Given the description of an element on the screen output the (x, y) to click on. 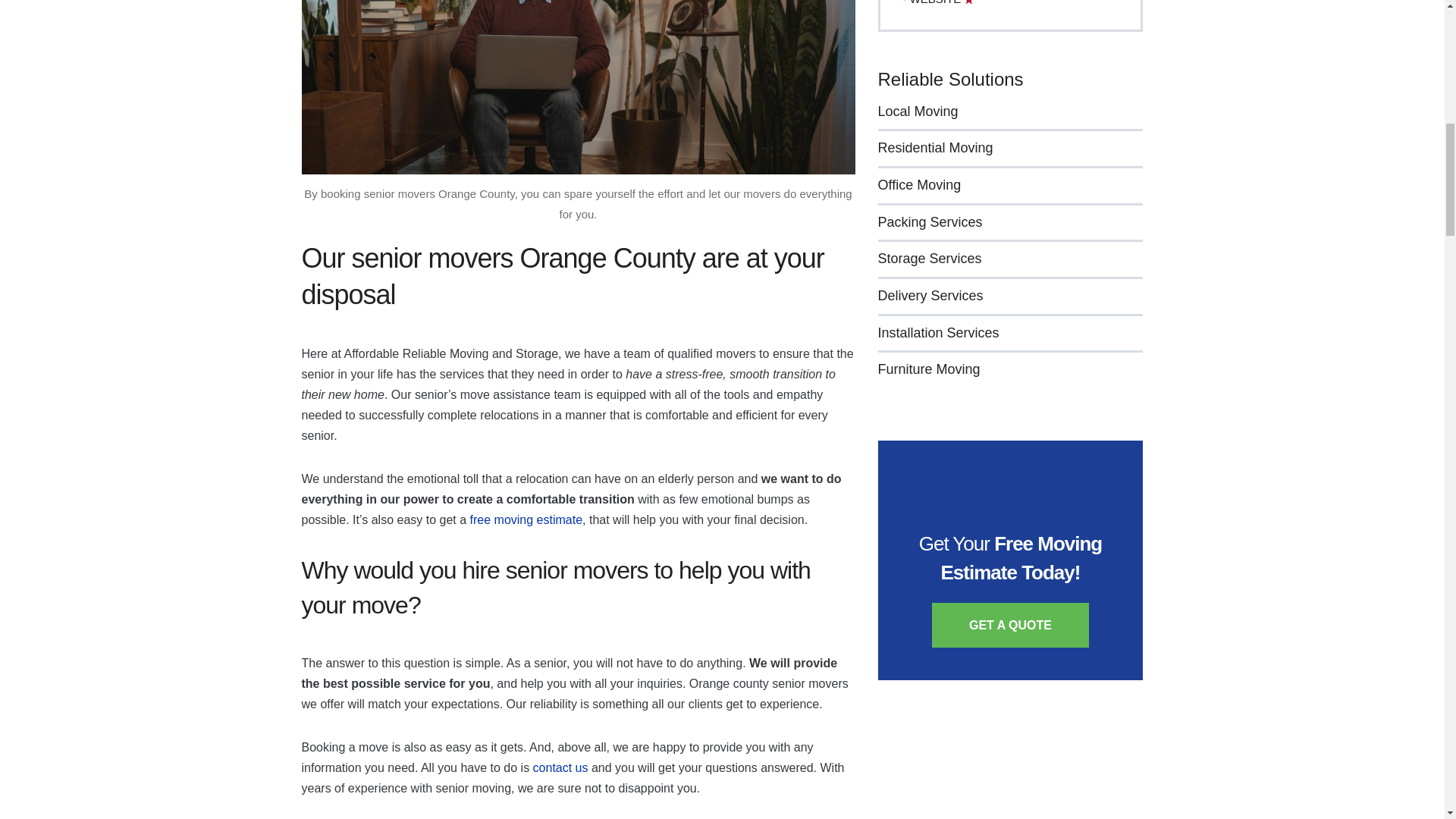
free moving estimate (526, 519)
contact us (560, 767)
